Given the description of an element on the screen output the (x, y) to click on. 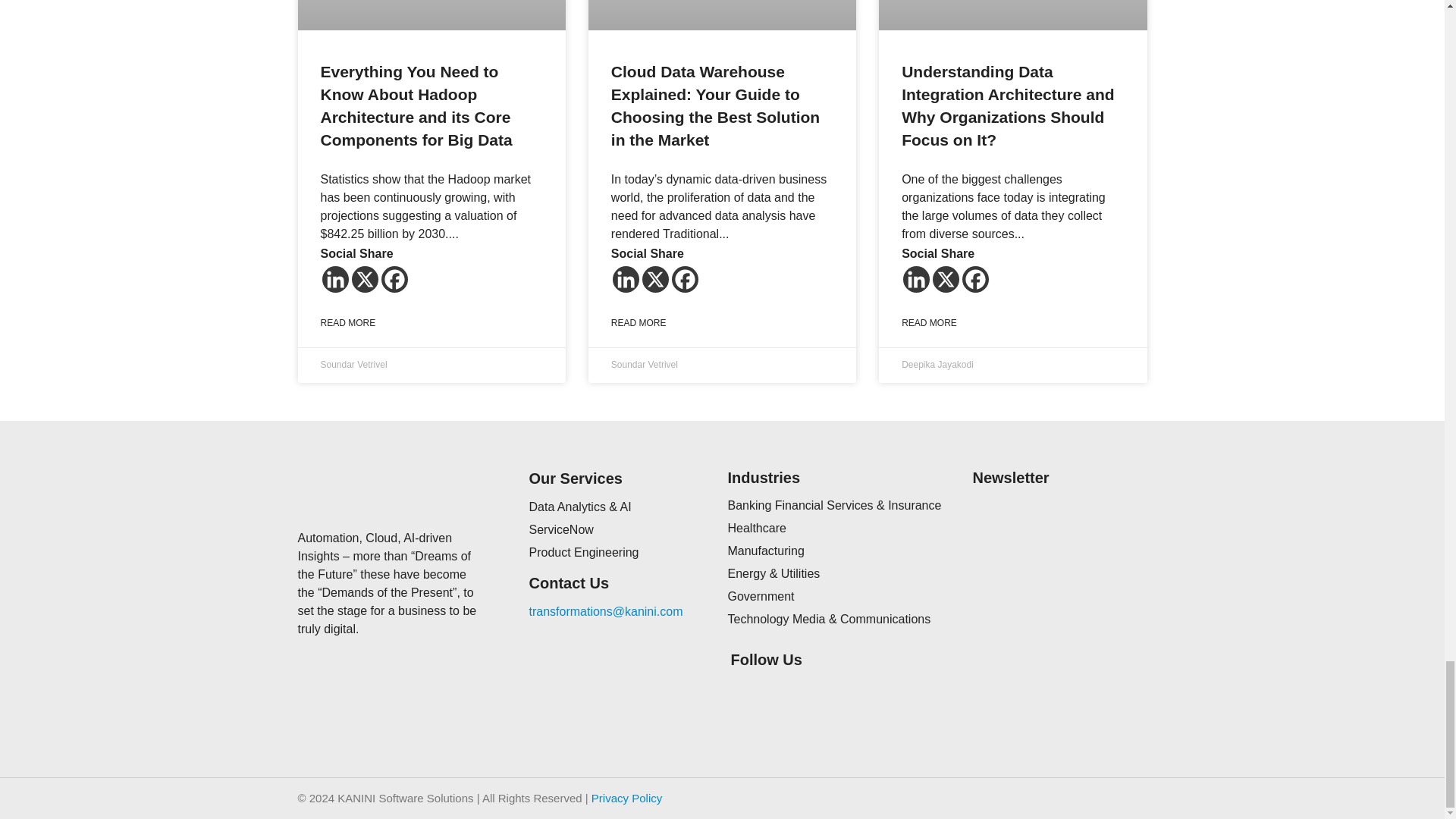
Linkedin (625, 279)
X (365, 279)
Facebook (684, 279)
Linkedin (916, 279)
Facebook (975, 279)
X (946, 279)
X (655, 279)
Facebook (393, 279)
Linkedin (334, 279)
